Given the description of an element on the screen output the (x, y) to click on. 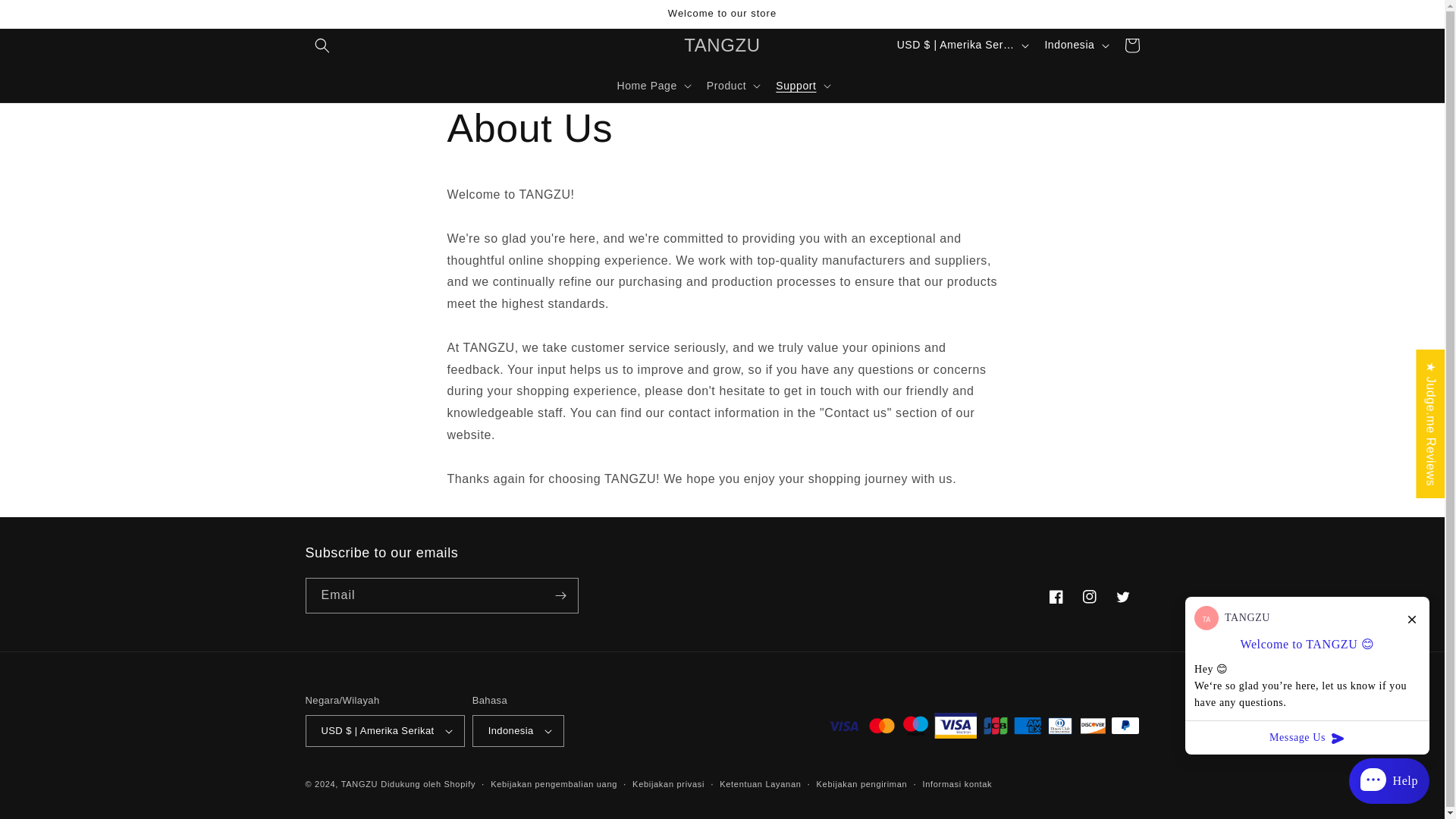
Langsung ke konten (45, 17)
